Given the description of an element on the screen output the (x, y) to click on. 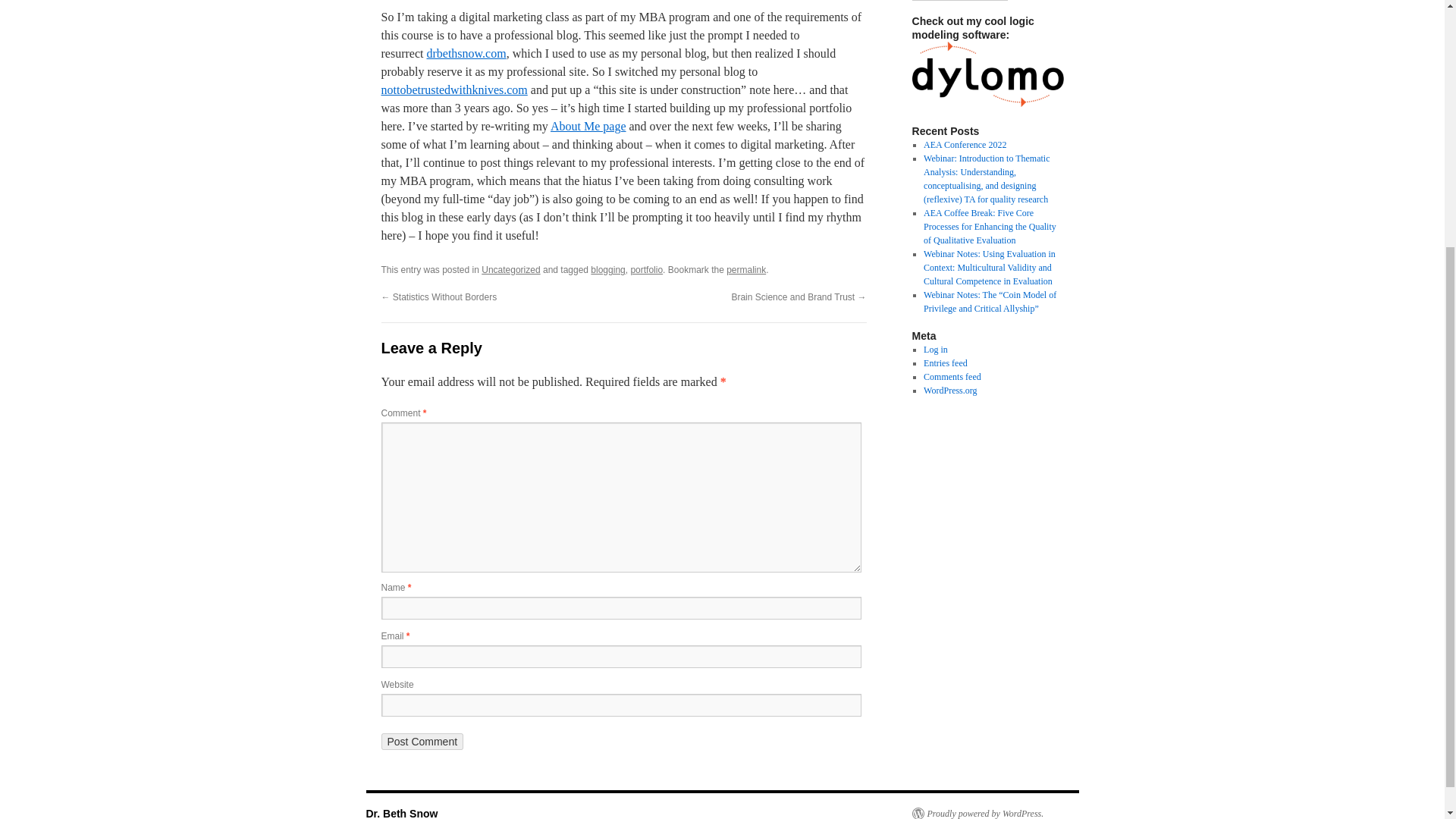
blogging (607, 269)
AEA Conference 2022 (964, 144)
About Me page (588, 125)
Post Comment (421, 741)
Post Comment (421, 741)
nottobetrustedwithknives.com (453, 89)
Uncategorized (510, 269)
Comments feed (952, 376)
Entries feed (945, 362)
WordPress.org (949, 389)
Log in (935, 348)
portfolio (646, 269)
permalink (745, 269)
Permalink to Blog Reboot (745, 269)
